Given the description of an element on the screen output the (x, y) to click on. 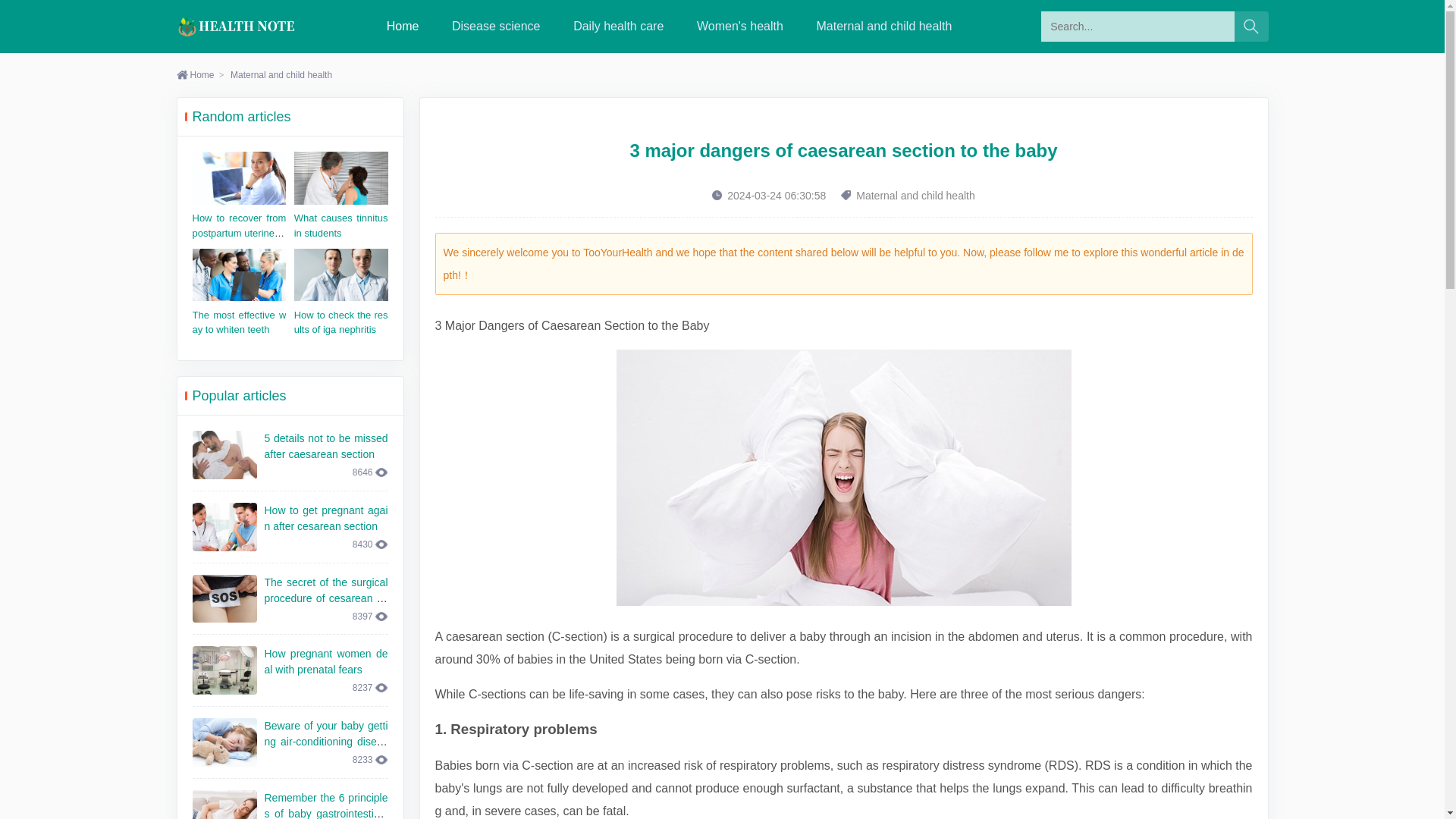
Disease science (495, 26)
Too-yourhealth Home (403, 26)
How to recover from postpartum uterine prolapse (239, 232)
5 details not to be missed after caesarean section (325, 446)
Daily health care (618, 26)
Daily health care (618, 26)
How to check the results of iga nephritis (341, 322)
The most effective way to whiten teeth (239, 322)
What causes tinnitus in students (341, 225)
Home (195, 74)
Too Yourhealth (236, 26)
Maternal and child health (884, 26)
Too Yourhealth (236, 26)
Disease science (495, 26)
Maternal and child health (280, 74)
